Given the description of an element on the screen output the (x, y) to click on. 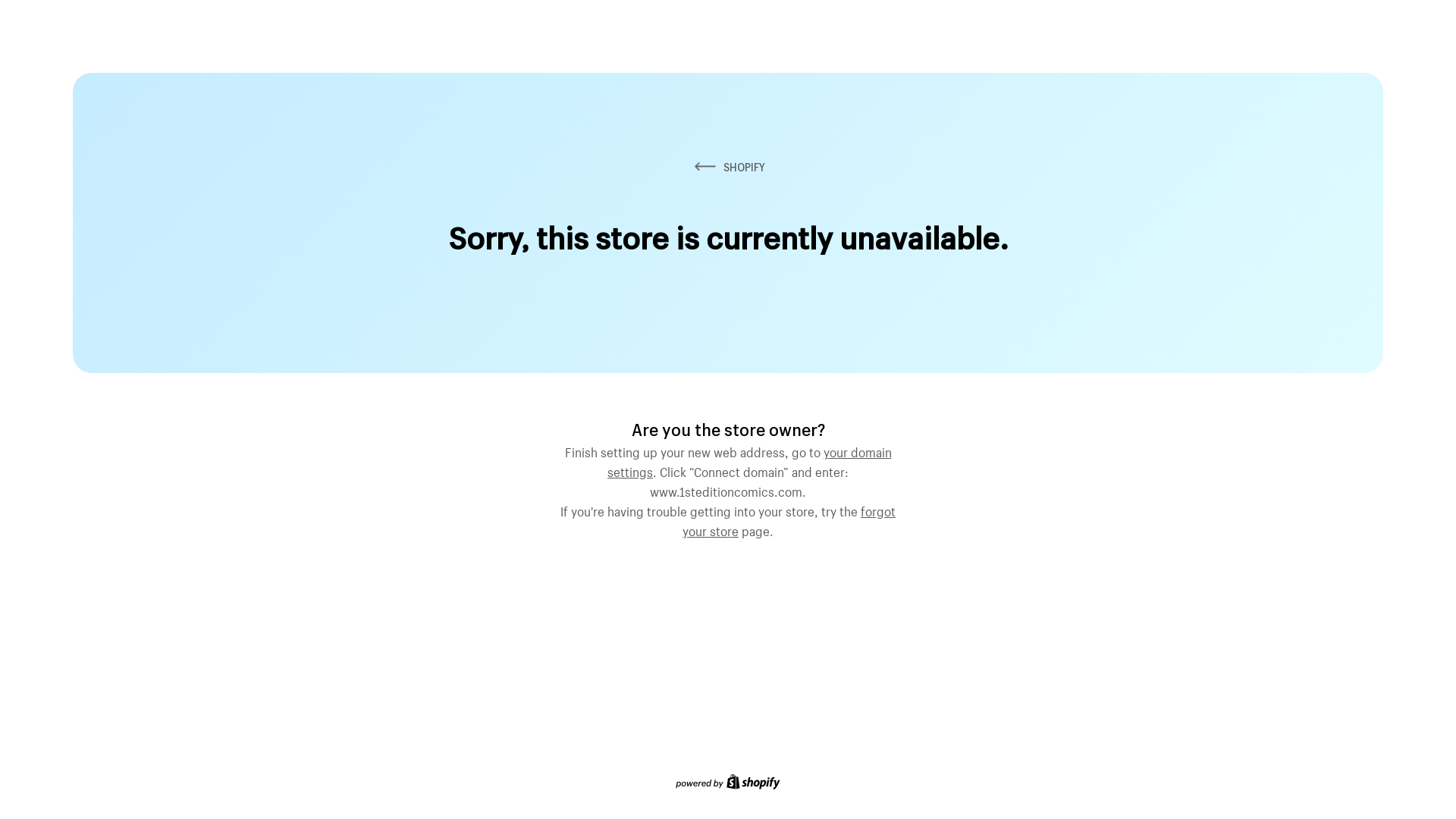
forgot your store Element type: text (788, 519)
SHOPIFY Element type: text (727, 167)
your domain settings Element type: text (749, 460)
